Given the description of an element on the screen output the (x, y) to click on. 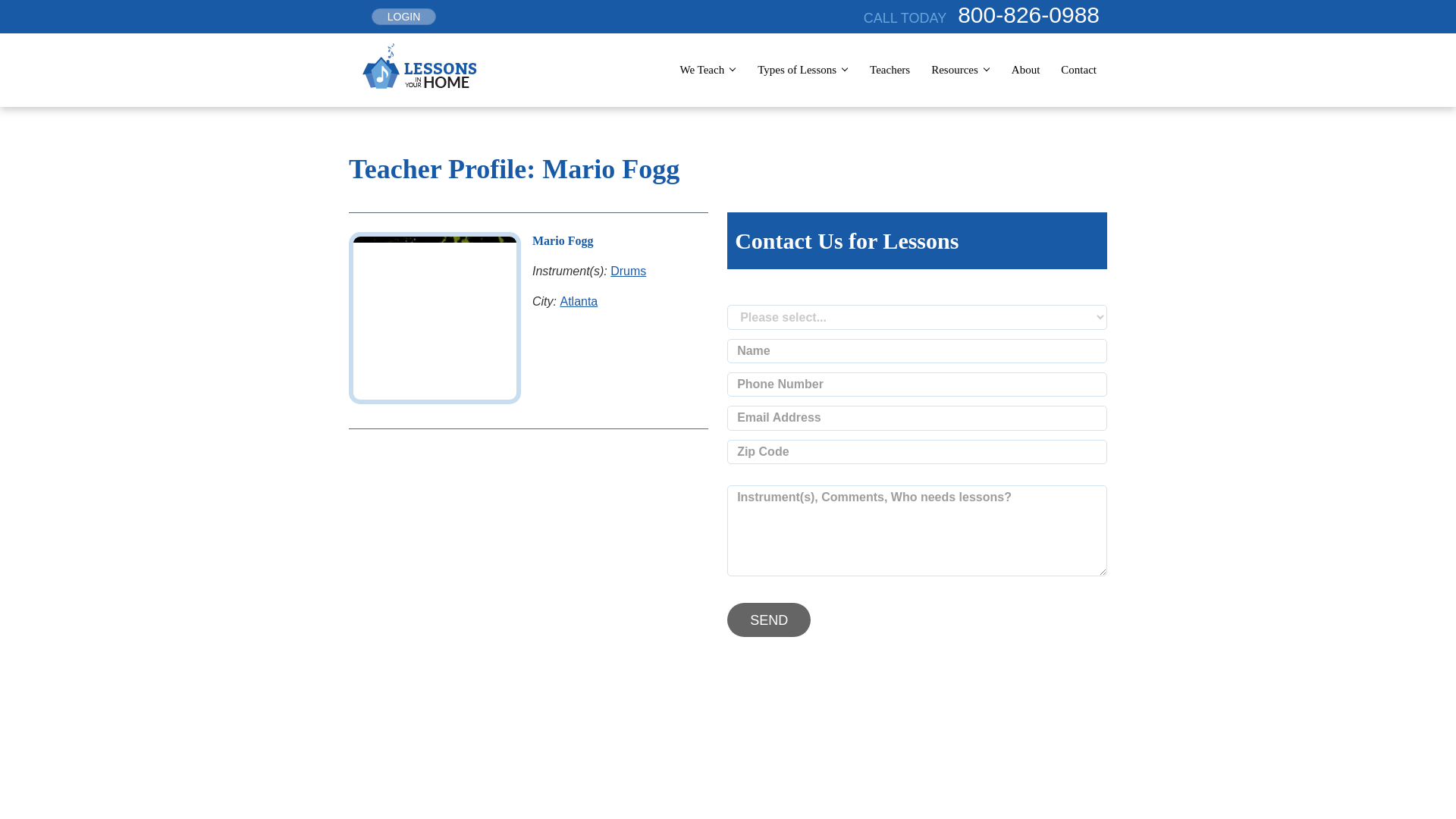
About (1026, 70)
LOGIN (403, 16)
Send (768, 619)
800-826-0988 (1032, 14)
Contact (1077, 70)
Atlanta (577, 300)
Teachers (889, 70)
Drums (628, 269)
Send (768, 619)
Types of Lessons (798, 70)
